Given the description of an element on the screen output the (x, y) to click on. 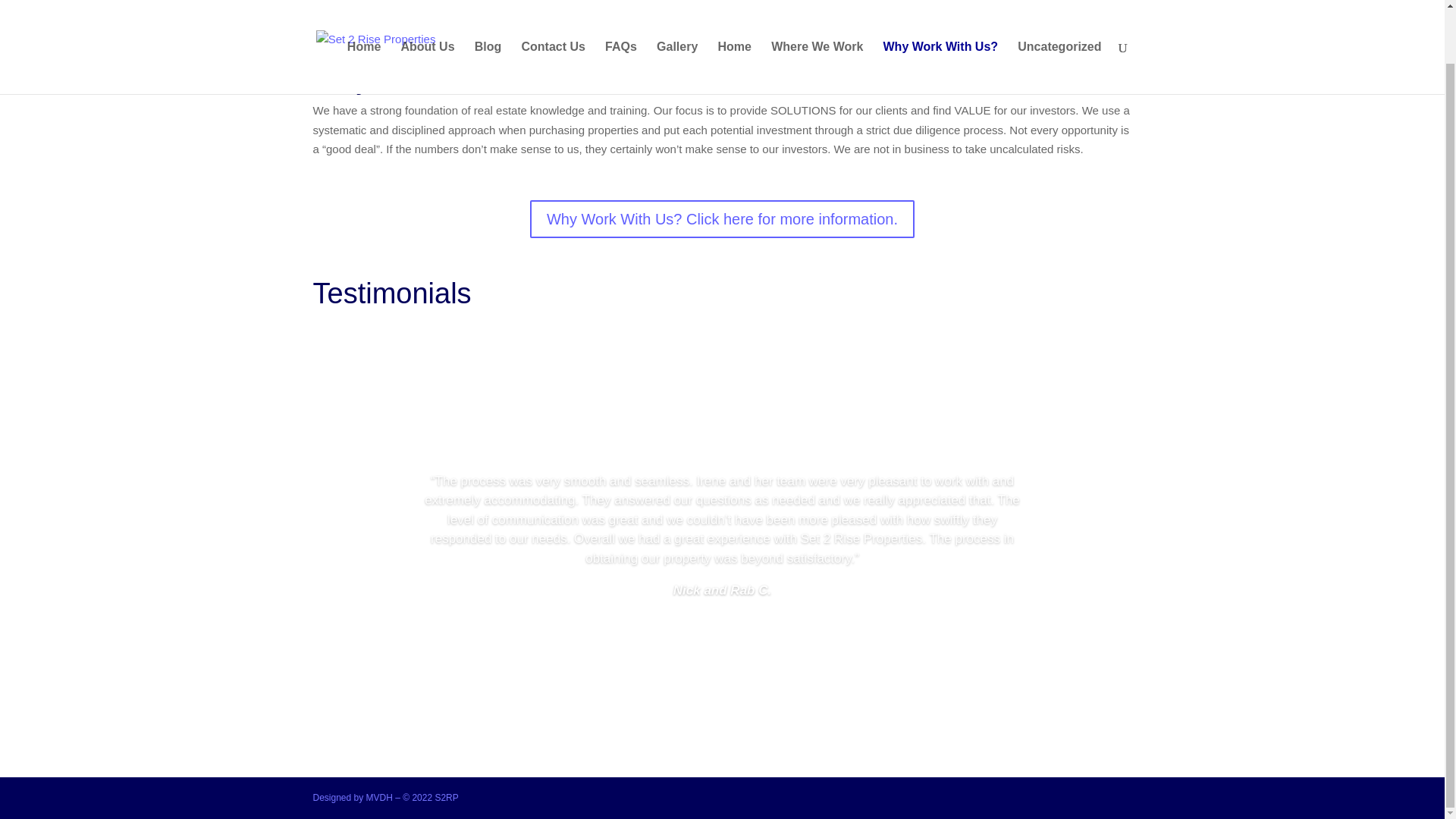
Home (734, 18)
About Us (427, 18)
Where We Work (817, 18)
Uncategorized (1058, 18)
Home (363, 18)
Gallery (676, 18)
Why Work With Us? Click here for more information. (721, 218)
Contact Us (553, 18)
Why Work With Us? (940, 18)
